Given the description of an element on the screen output the (x, y) to click on. 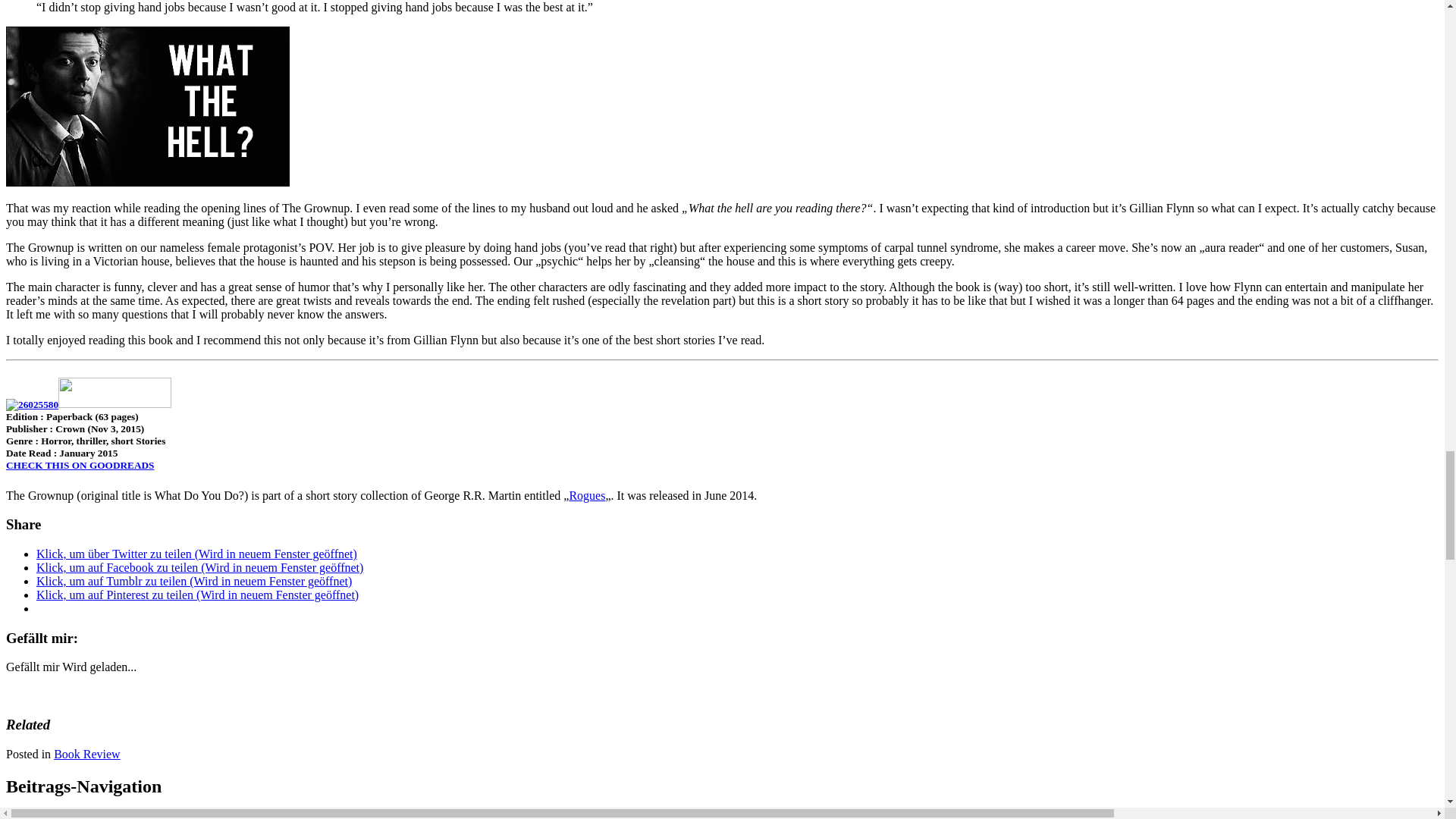
Klick, um auf Facebook zu teilen (199, 567)
Rogues (587, 495)
CHECK THIS ON GOODREADS (79, 464)
Klick, um auf Tumblr zu teilen (194, 581)
Klick, um auf Pinterest zu teilen (197, 594)
Previous postMy Top 10 Favorite Books of 2015 (124, 815)
Book Review (86, 753)
